Given the description of an element on the screen output the (x, y) to click on. 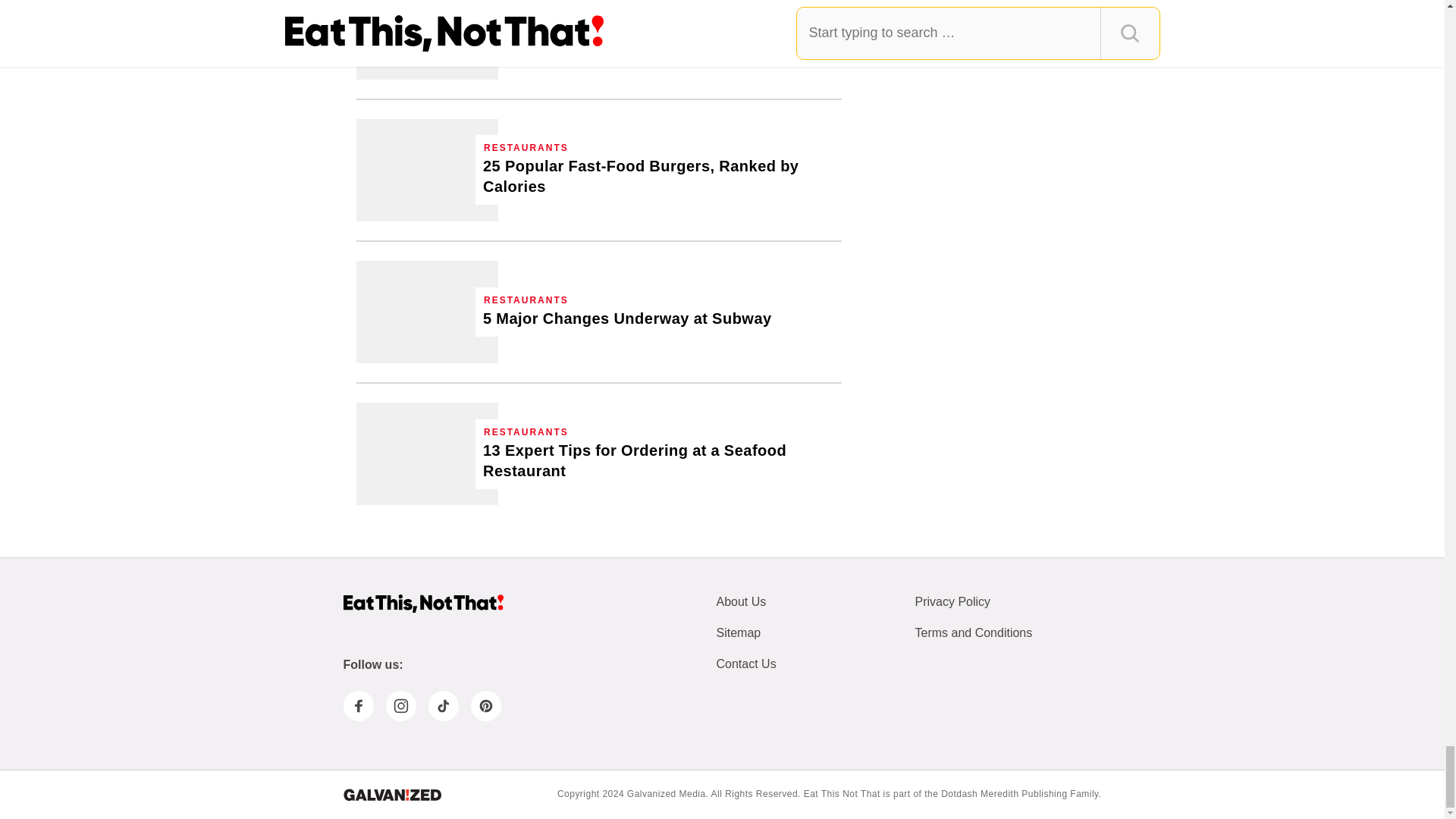
25 Popular Fast-Food Burgers, Ranked by Calories (658, 176)
5 Major Changes Underway at Subway (627, 318)
25 Popular Fast-Food Burgers, Ranked by Calories (426, 169)
5 Major Changes Underway at Subway (426, 312)
